Given the description of an element on the screen output the (x, y) to click on. 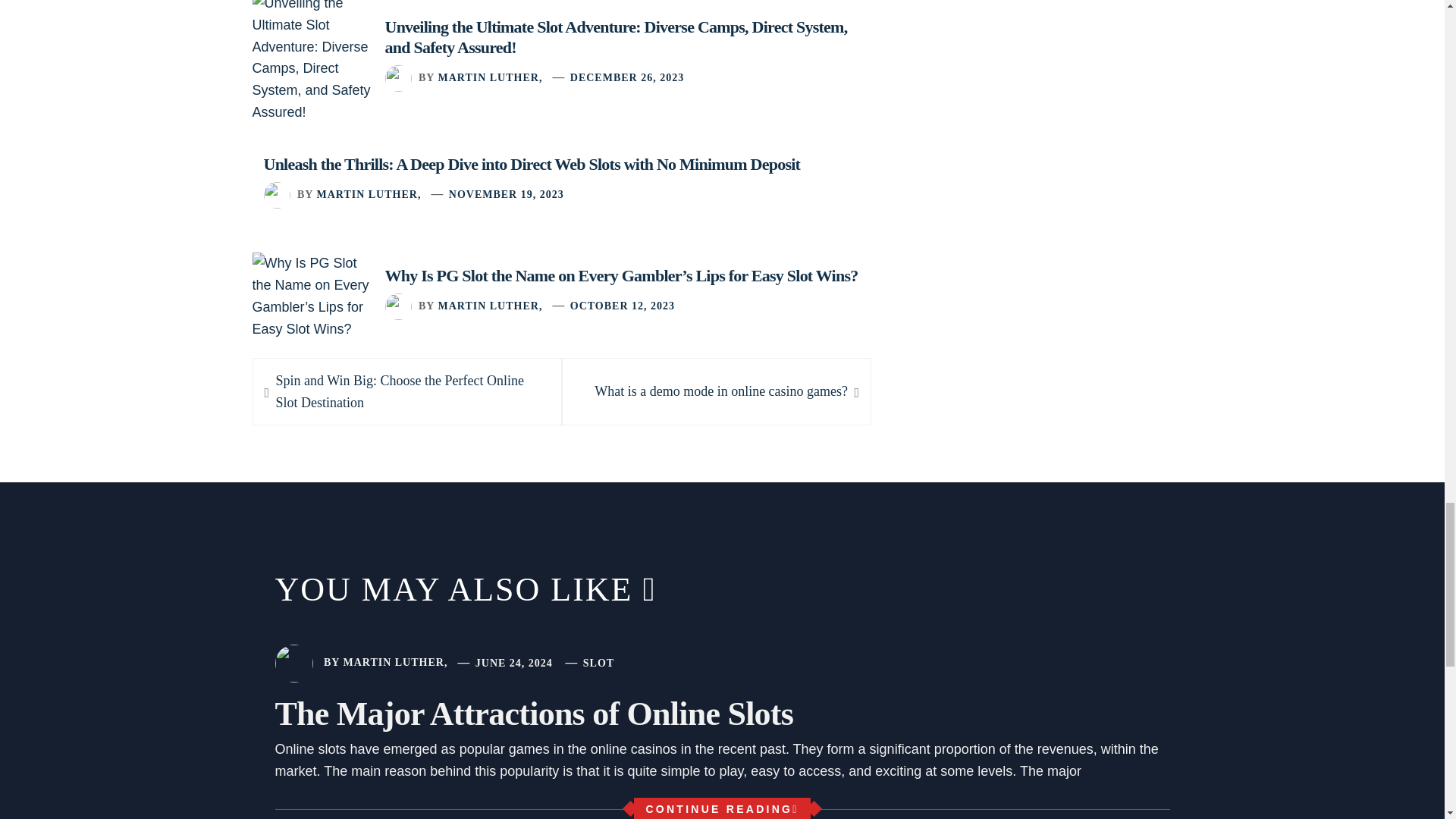
OCTOBER 12, 2023 (622, 306)
MARTIN LUTHER, (489, 77)
DECEMBER 26, 2023 (627, 77)
MARTIN LUTHER, (367, 194)
MARTIN LUTHER, (721, 391)
NOVEMBER 19, 2023 (489, 306)
